Given the description of an element on the screen output the (x, y) to click on. 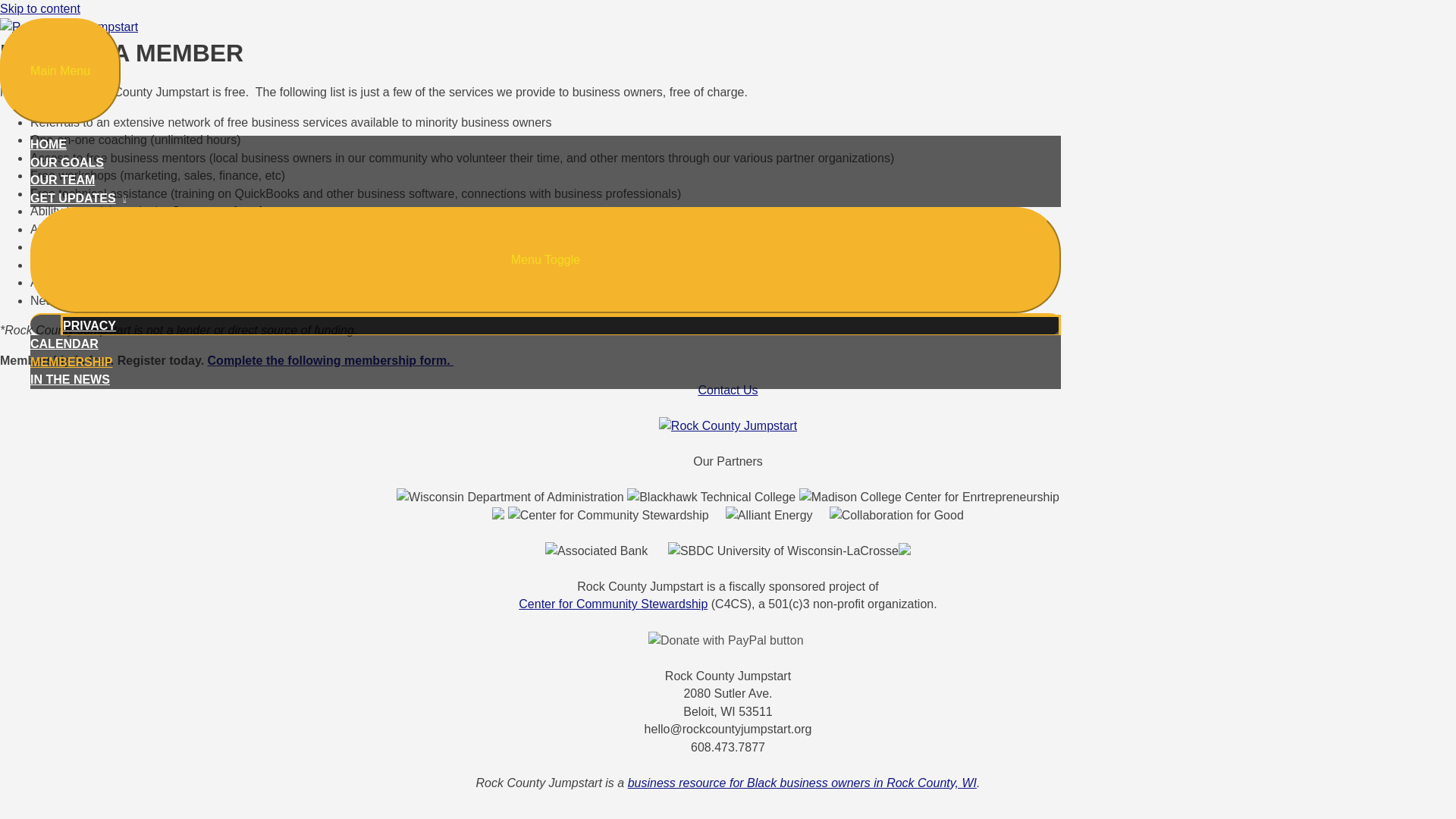
IN THE NEWS (545, 380)
Complete the following membership form. (330, 359)
PRIVACY (561, 324)
OUR TEAM (545, 180)
PayPal - The safer, easier way to pay online! (725, 639)
Center for Community Stewardship (612, 603)
MEMBERSHIP (545, 361)
CALENDAR (545, 343)
Contact Us (727, 390)
Main Menu (60, 71)
Skip to content (40, 8)
OUR GOALS (545, 162)
Skip to content (40, 8)
Menu Toggle (545, 259)
